Given the description of an element on the screen output the (x, y) to click on. 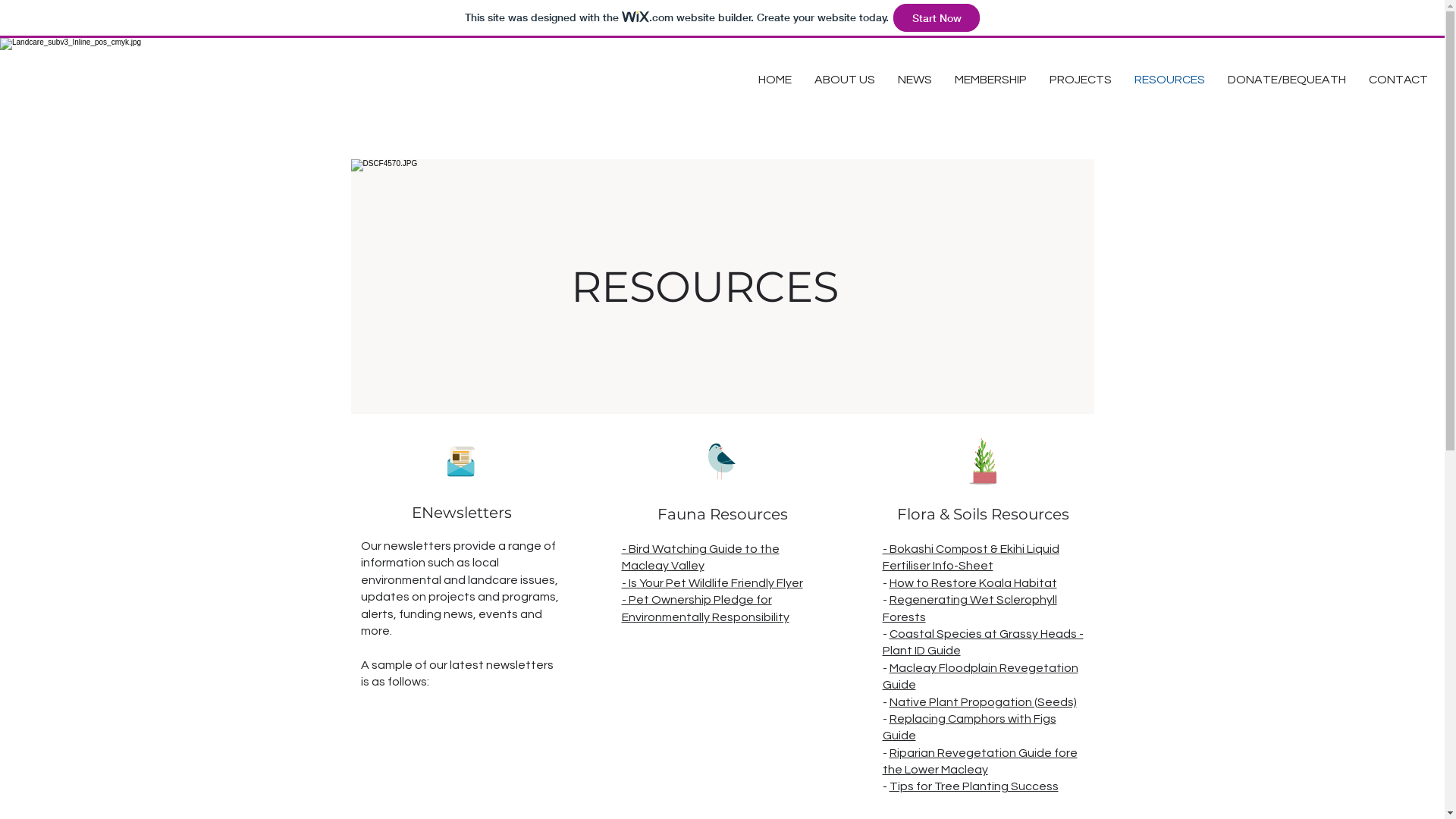
- Is Your Pet Wildlife Friendly Flyer Element type: text (712, 583)
Riparian Revegetation Guide fore the Lower Macleay Element type: text (979, 760)
- Bokashi Compost & Ekihi Liquid Fertiliser Info-Sheet Element type: text (970, 556)
CONTACT Element type: text (1398, 79)
- Pet Ownership Pledge for Environmentally Responsibility Element type: text (705, 607)
Native Plant Propogation (Seeds) Element type: text (982, 702)
Replacing Camphors with Figs Guide Element type: text (969, 726)
HOME Element type: text (774, 79)
- Bird Watching Guide to the Macleay Valley Element type: text (700, 556)
Coastal Species at Grassy Heads - Plant ID Guide Element type: text (982, 641)
PROJECTS Element type: text (1080, 79)
Tips for Tree Planting Success Element type: text (972, 786)
RESOURCES Element type: text (1169, 79)
NEWS Element type: text (914, 79)
Macleay Floodplain Revegetation Guide Element type: text (980, 676)
DONATE/BEQUEATH Element type: text (1286, 79)
Regenerating Wet Sclerophyll Forests Element type: text (969, 607)
MEMBERSHIP Element type: text (990, 79)
How to Restore Koala Habitat Element type: text (972, 583)
